Given the description of an element on the screen output the (x, y) to click on. 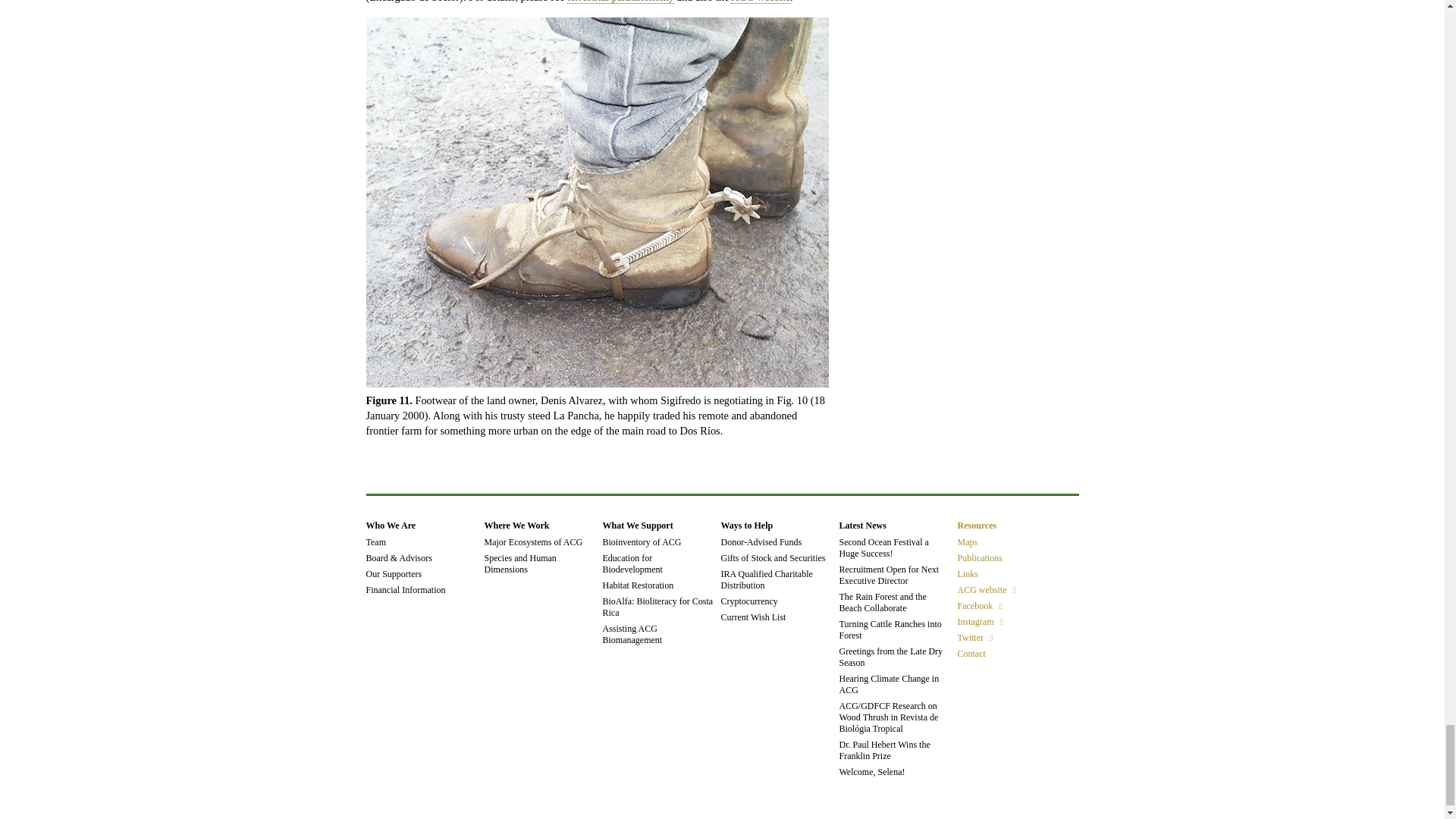
Four major ecosystems of ACG (532, 542)
